Given the description of an element on the screen output the (x, y) to click on. 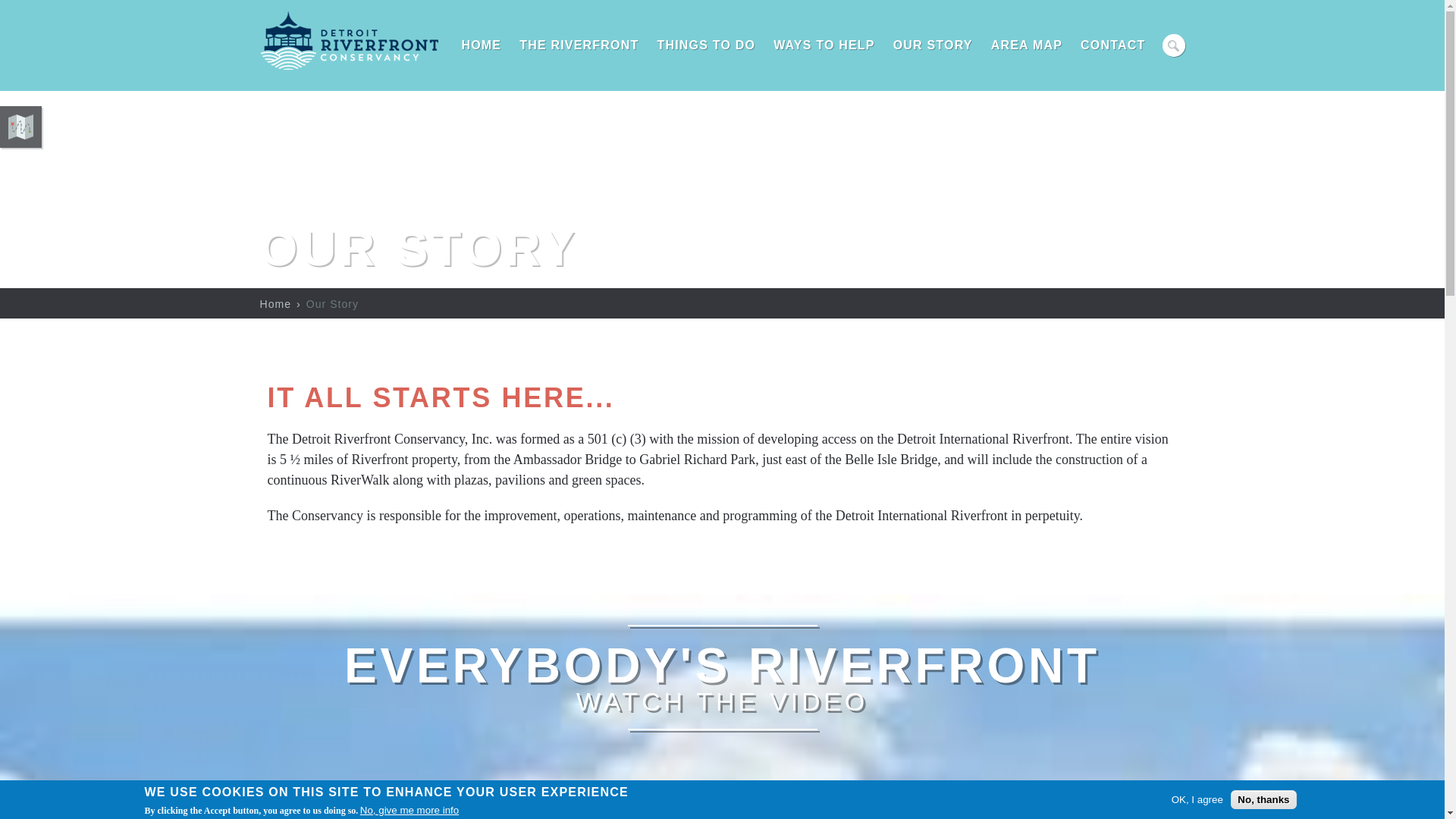
Current Page (331, 304)
HOME (481, 44)
Search (1173, 45)
THE RIVERFRONT (579, 44)
Home (348, 67)
Skip to main content (31, 0)
. (1173, 45)
THINGS TO DO (705, 44)
